Given the description of an element on the screen output the (x, y) to click on. 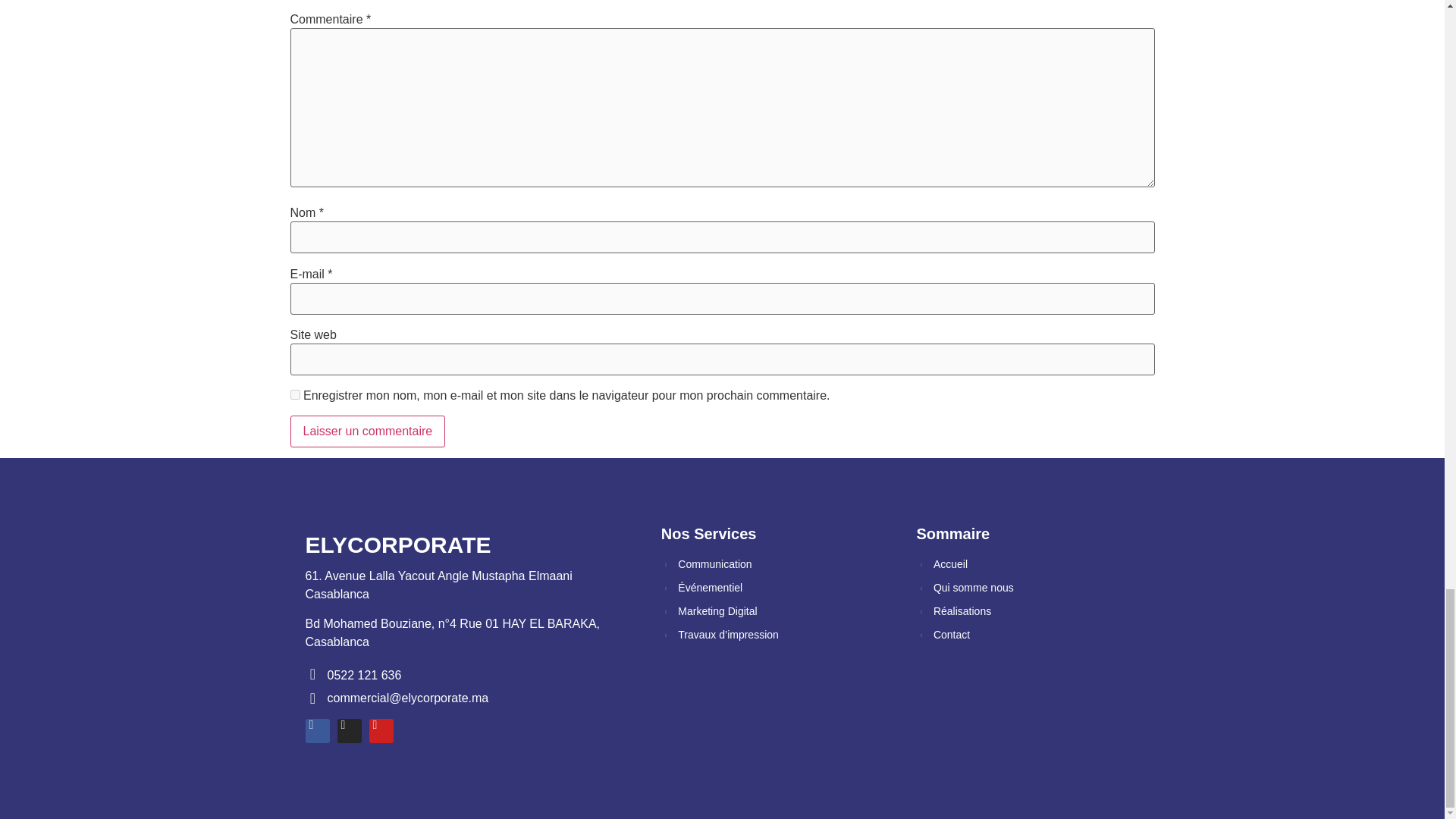
Qui somme nous (1027, 587)
yes (294, 394)
Laisser un commentaire (367, 431)
Marketing Digital (773, 611)
Laisser un commentaire (367, 431)
Contact (1027, 634)
Communication (773, 564)
Accueil (1027, 564)
